Given the description of an element on the screen output the (x, y) to click on. 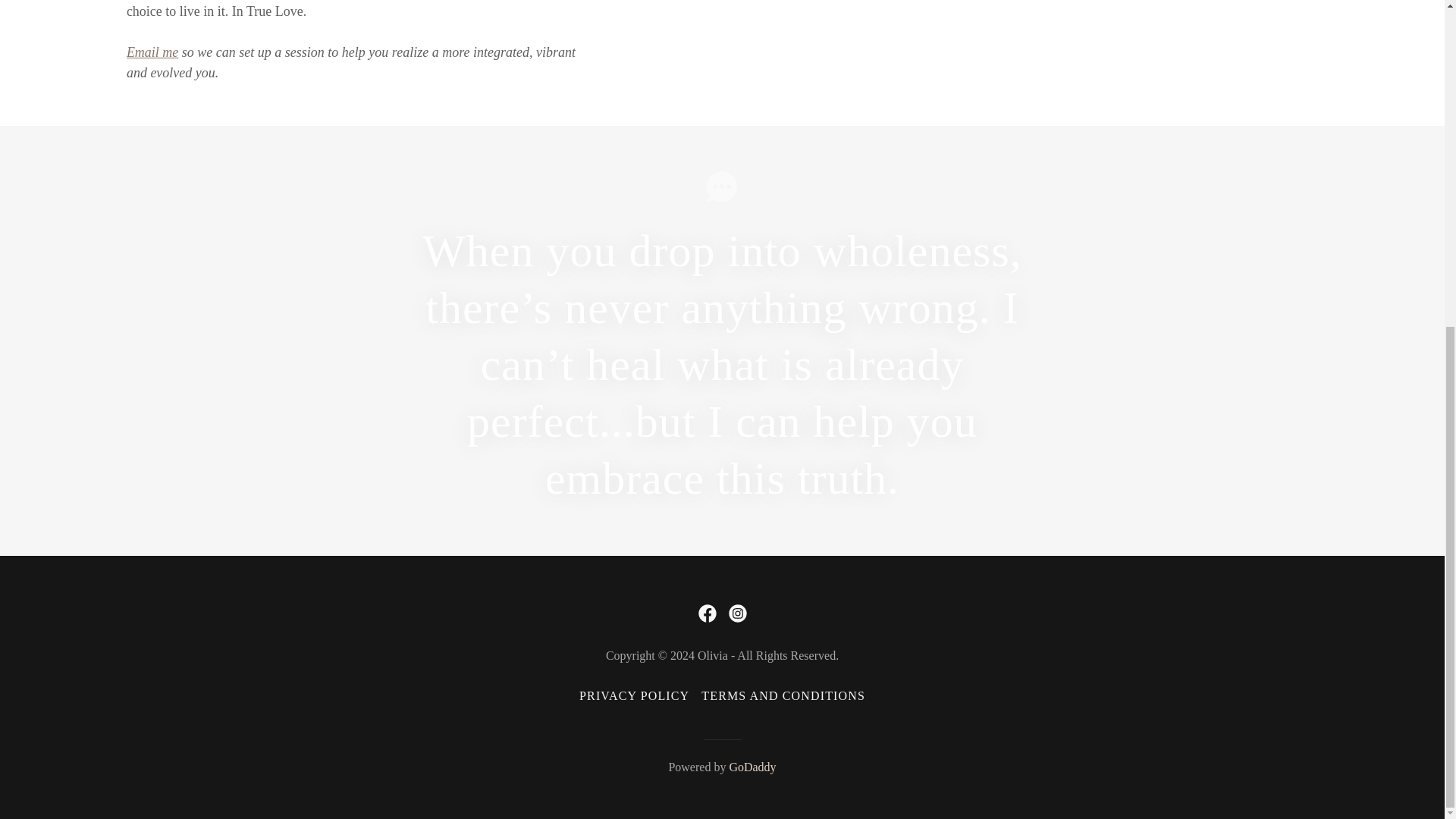
Email me (151, 52)
PRIVACY POLICY (634, 696)
TERMS AND CONDITIONS (782, 696)
GoDaddy (752, 766)
